Given the description of an element on the screen output the (x, y) to click on. 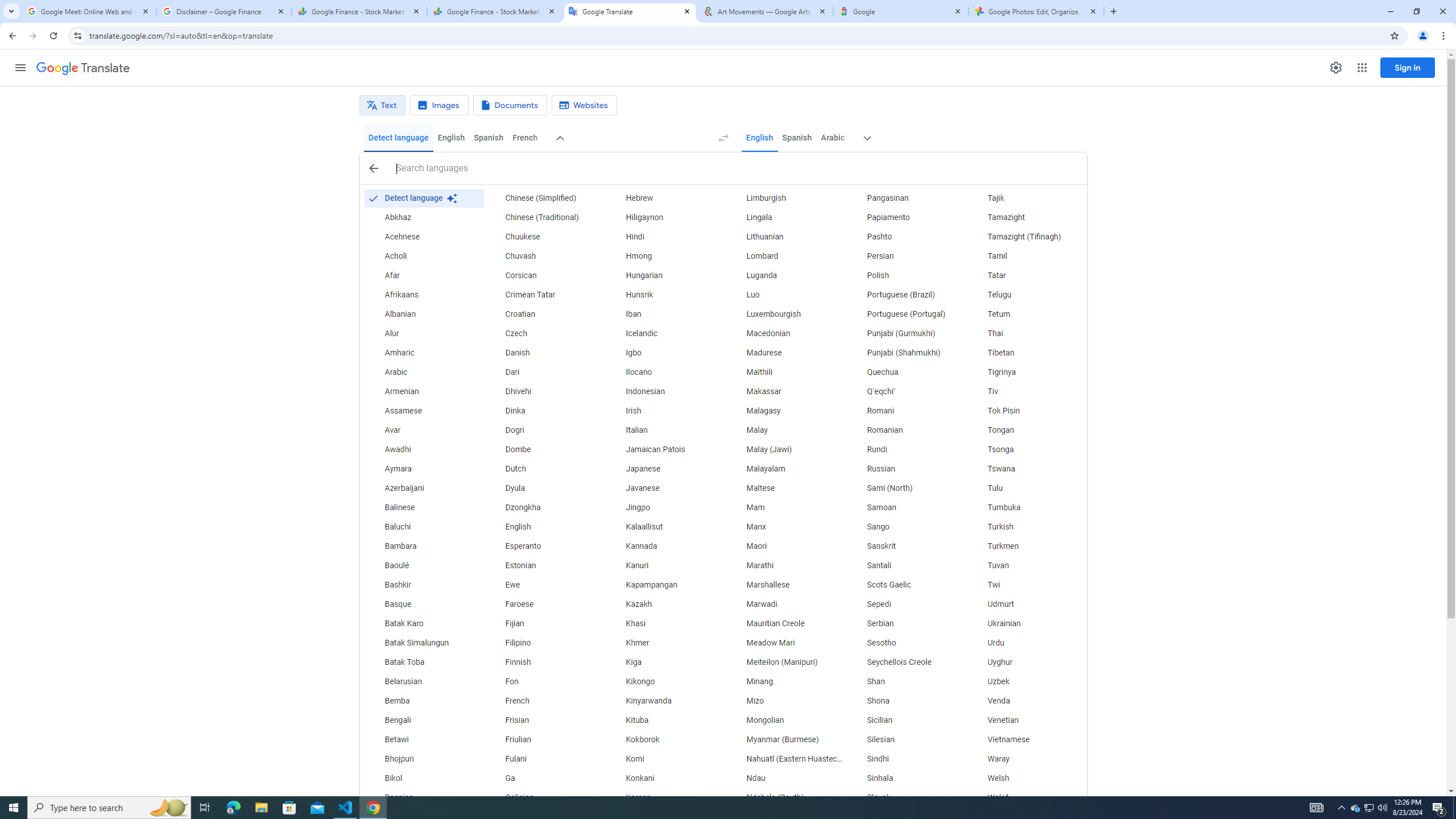
Ilocano (665, 372)
Bikol (423, 778)
Dogri (544, 430)
Punjabi (Gurmukhi) (905, 334)
Udmurt (1026, 604)
Samoan (905, 507)
Polish (905, 275)
Croatian (544, 314)
Malagasy (785, 411)
Search languages (736, 168)
Marwadi (785, 604)
Google Translate (630, 11)
